Given the description of an element on the screen output the (x, y) to click on. 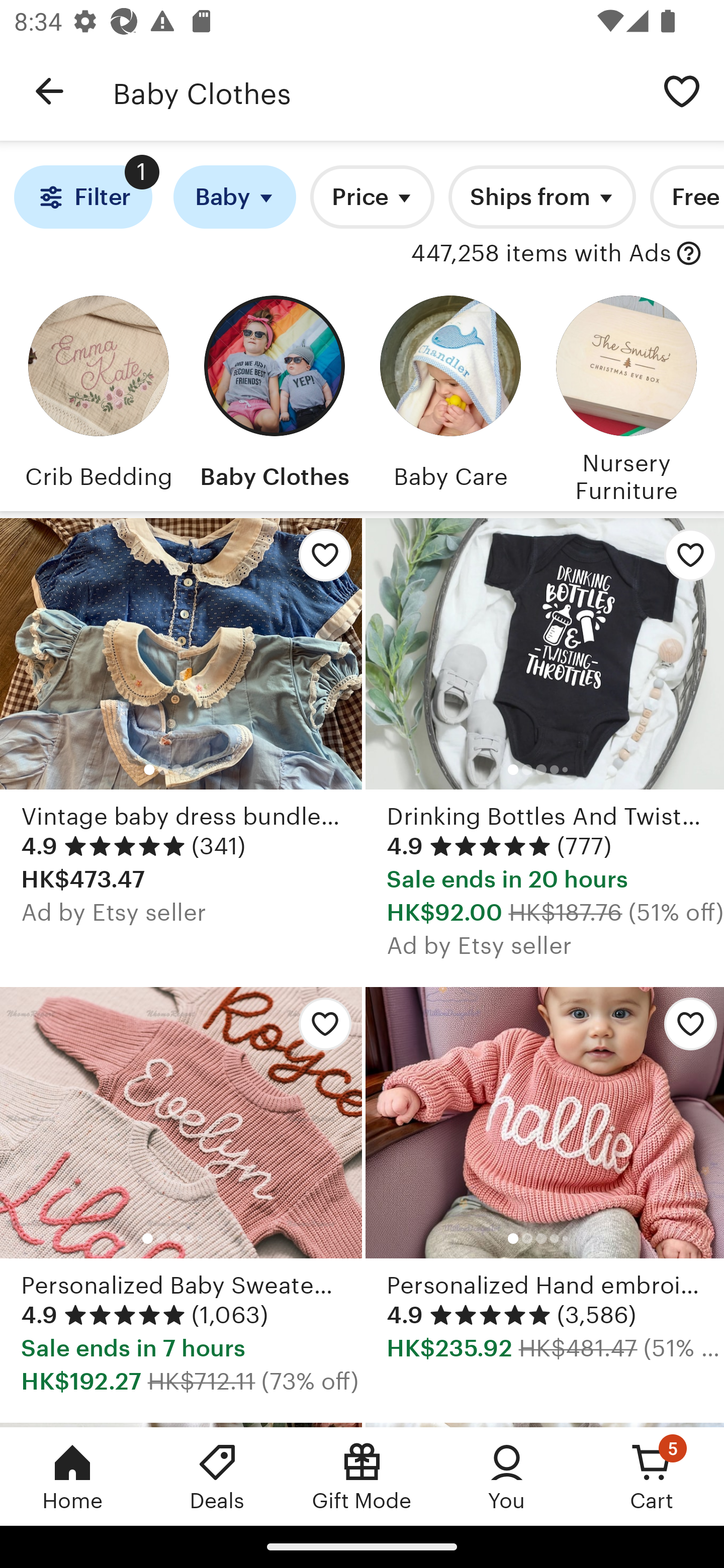
Navigate up (49, 91)
Save search (681, 90)
Baby Clothes (375, 91)
Filter (82, 197)
Baby (234, 197)
Price (371, 197)
Ships from (541, 197)
447,258 items with Ads (540, 253)
with Ads (688, 253)
Crib Bedding (97, 395)
Baby Clothes (273, 395)
Baby Care (449, 395)
Nursery Furniture (625, 395)
Deals (216, 1475)
Gift Mode (361, 1475)
You (506, 1475)
Cart, 5 new notifications Cart (651, 1475)
